Given the description of an element on the screen output the (x, y) to click on. 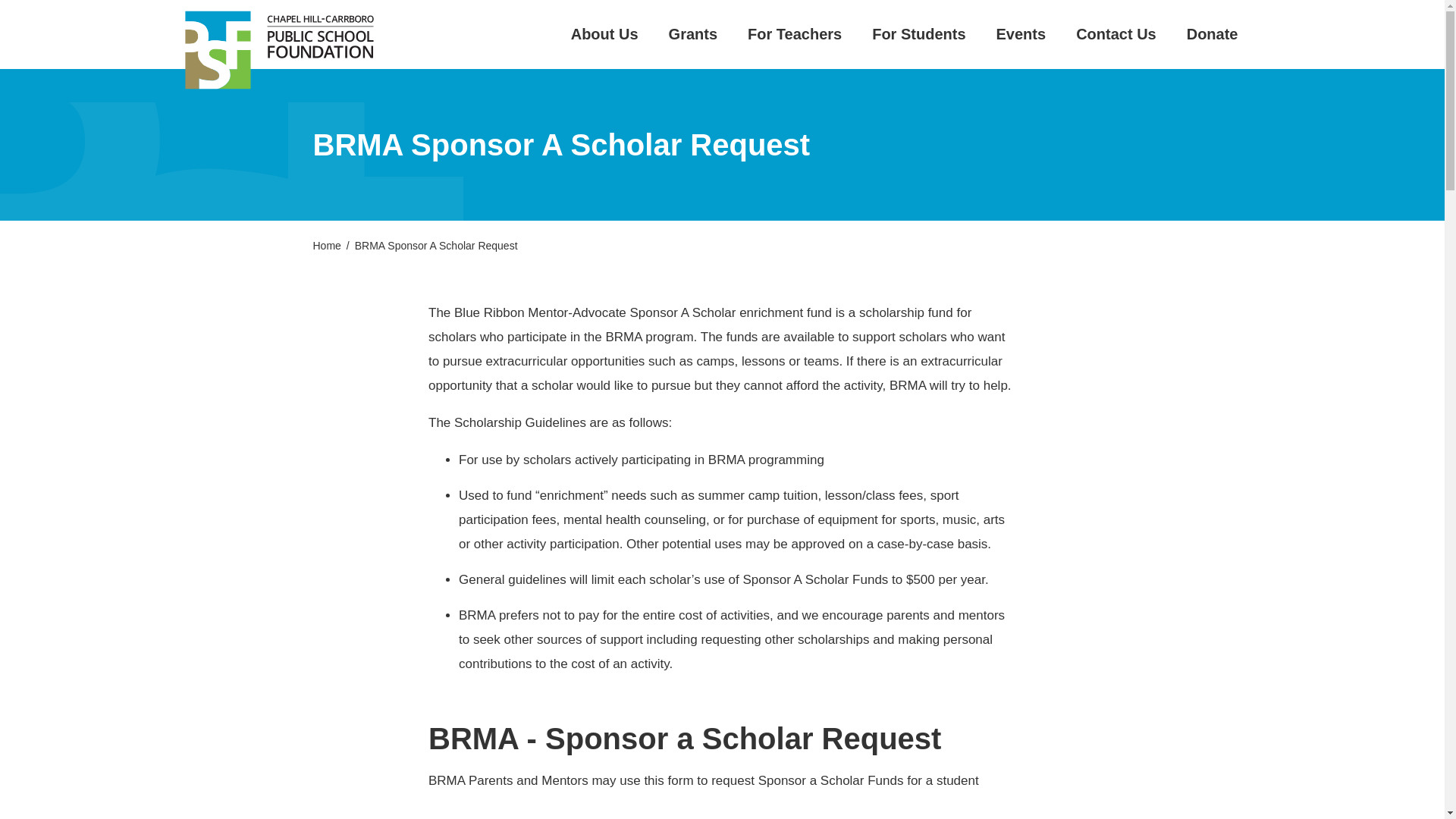
Contact Us (1115, 33)
For Students (918, 33)
For Teachers (794, 33)
Grants (692, 33)
Home (326, 245)
Public School Foundation Homepage (274, 48)
About Us (604, 33)
Events (1020, 33)
Donate (1212, 33)
